Given the description of an element on the screen output the (x, y) to click on. 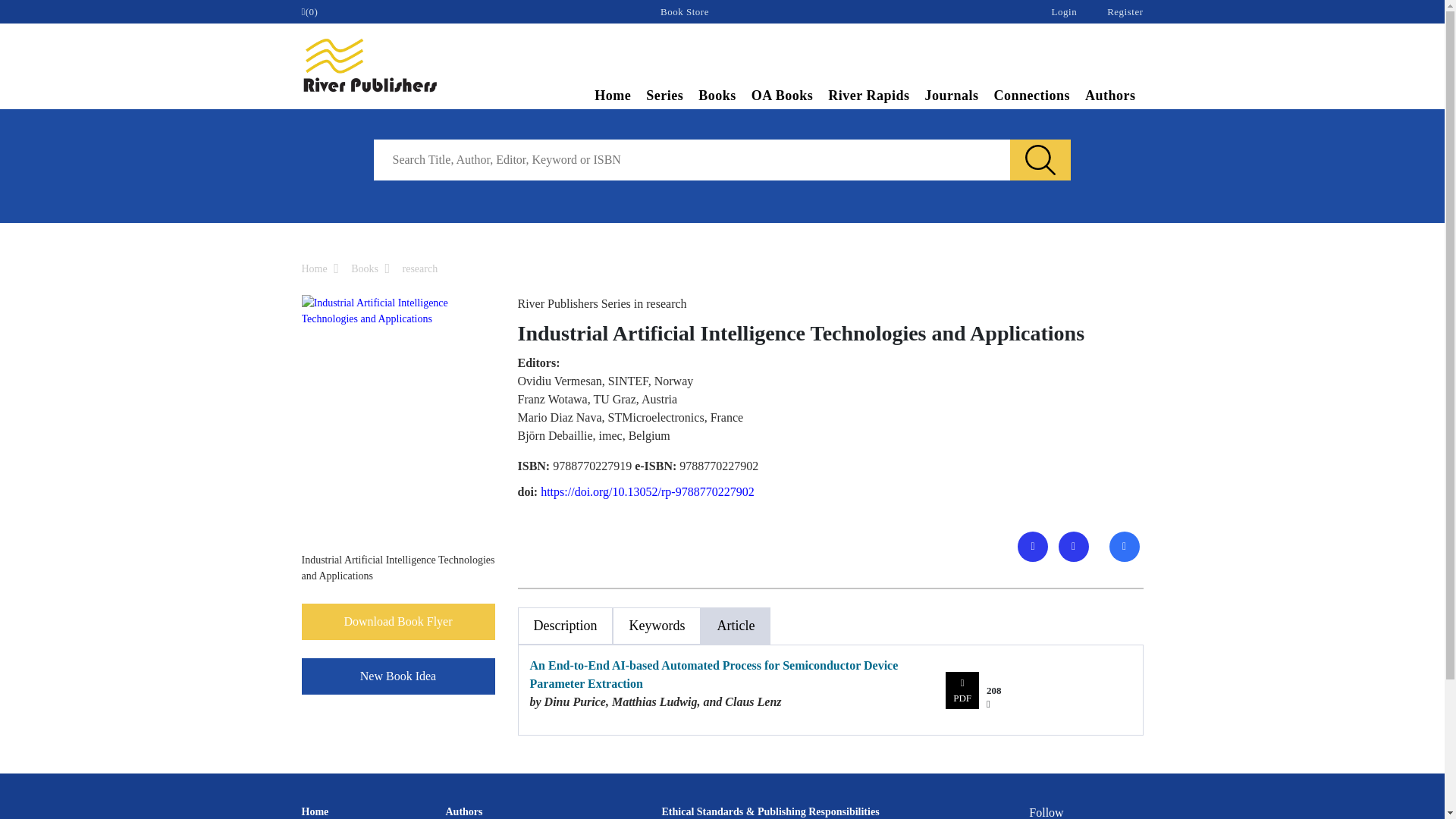
Keywords (656, 625)
Download Book Flyer (398, 621)
Description (564, 625)
OA Books (782, 96)
Register (1124, 11)
Login (1064, 11)
Books (364, 268)
Home (612, 96)
Connections (1031, 96)
Authors (1109, 96)
Journals (951, 96)
Home (314, 268)
River Rapids (869, 96)
Books (717, 96)
